Given the description of an element on the screen output the (x, y) to click on. 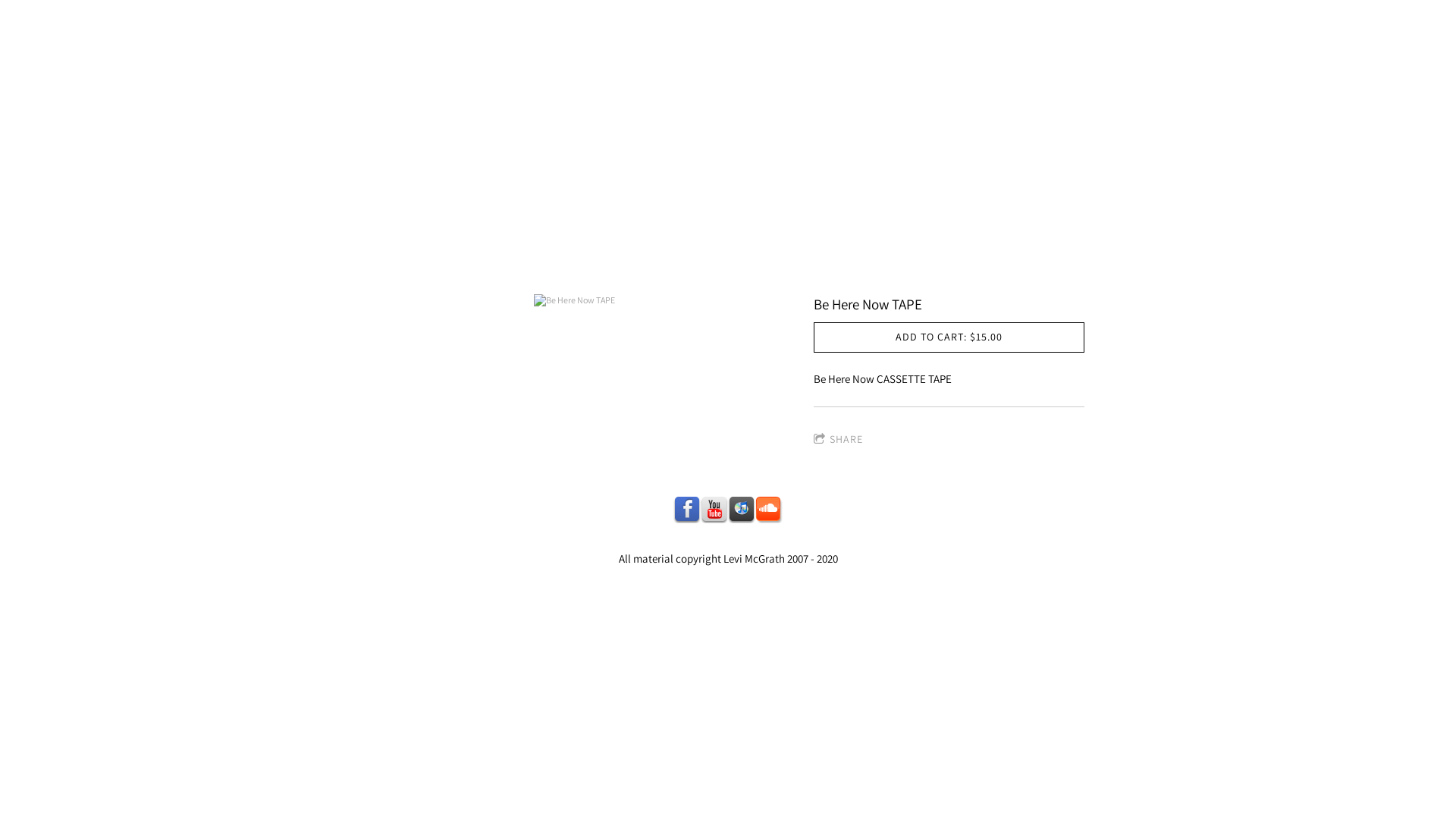
Be Here Now TAPE Element type: hover (574, 300)
Media Element type: text (920, 258)
http://www.facebook.com/levimcgrathmusic Element type: hover (686, 509)
Bio Element type: text (510, 258)
Photos Element type: text (857, 258)
ADD TO CART: $15.00 Element type: text (948, 337)
Store Element type: text (687, 258)
Shows Element type: text (628, 258)
http://soundcloud.com/levi-mcgrath-music Element type: hover (768, 509)
SHARE Element type: text (837, 439)
https://itunes.apple.com/au/artist/levi-mcgrath/id262394655 Element type: hover (741, 509)
Videos Element type: text (564, 258)
Contact Element type: text (986, 258)
Testimonials Element type: text (769, 258)
Home Element type: text (461, 258)
http://www.youtube.com/user/levimcgrathmusic/videos Element type: hover (714, 509)
